Given the description of an element on the screen output the (x, y) to click on. 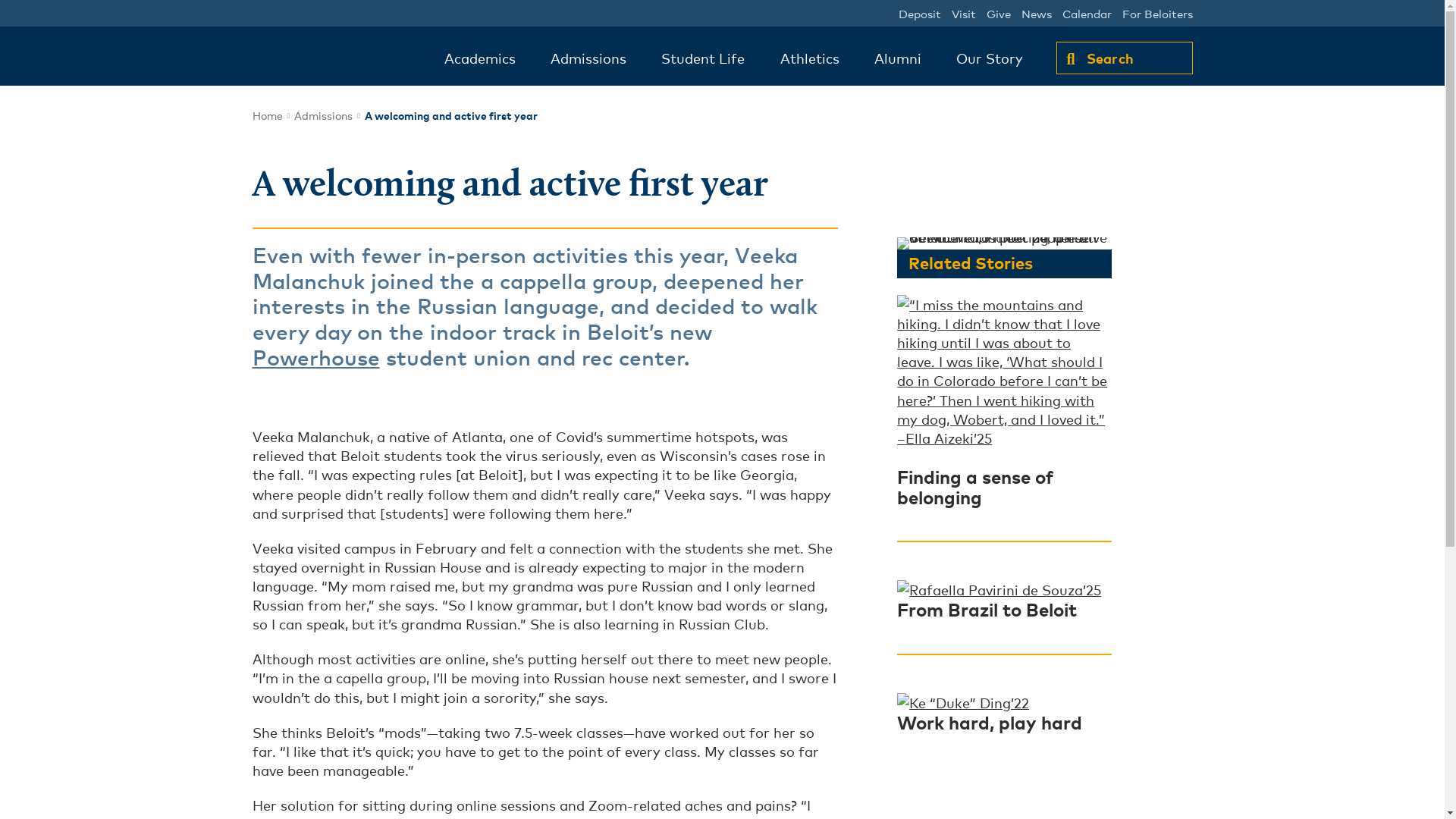
Home (266, 115)
Visit (962, 12)
Admissions (588, 58)
Work hard, play hard (988, 721)
News (1035, 12)
Student Life (702, 58)
Alumni (898, 58)
Beloit College (330, 58)
Give (997, 12)
Deposit (919, 12)
A welcoming and active first year (451, 114)
Powerhouse (314, 356)
Athletics (810, 58)
Calendar (1085, 12)
For Beloiters (1157, 12)
